Given the description of an element on the screen output the (x, y) to click on. 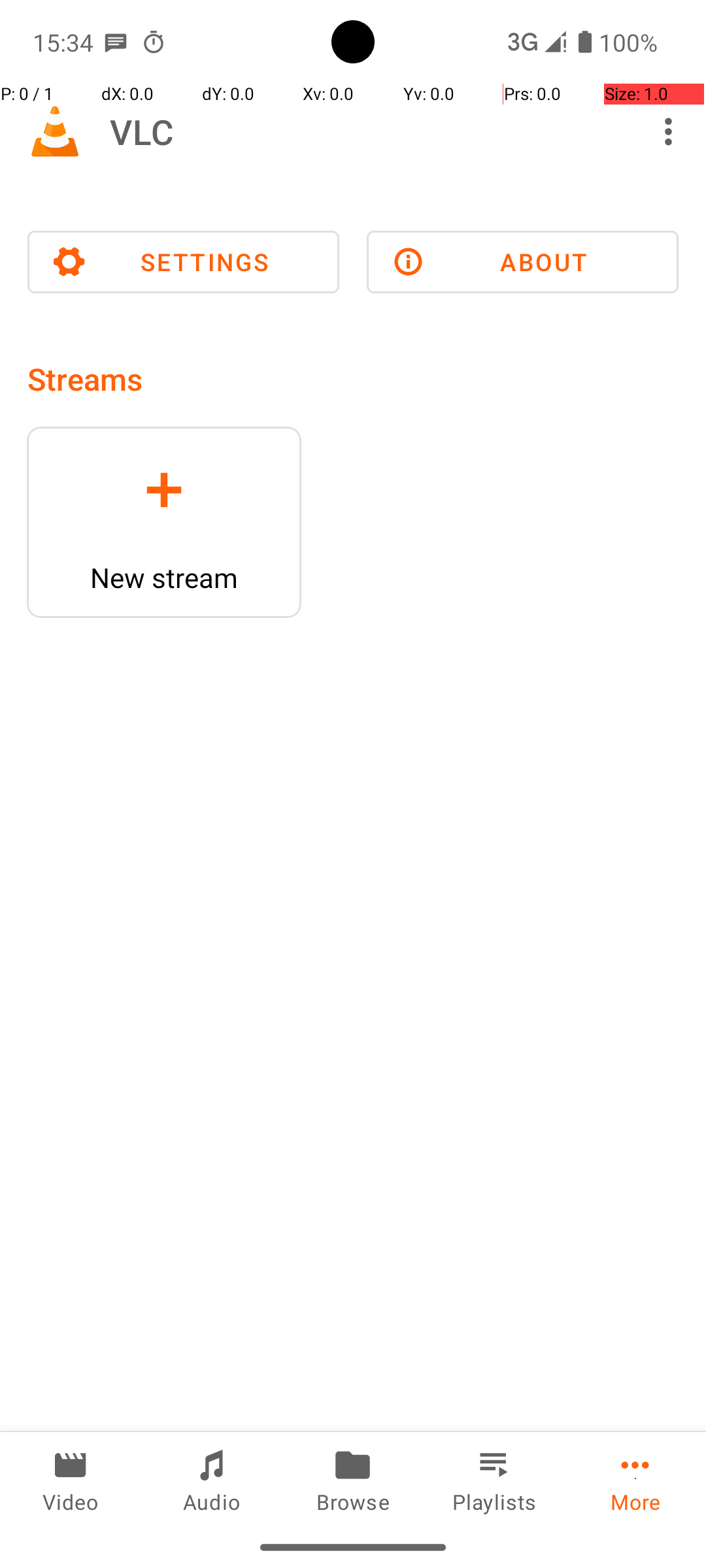
SETTINGS Element type: android.widget.Button (183, 261)
ABOUT Element type: android.widget.Button (522, 261)
Streams Element type: android.widget.TextView (84, 378)
New stream Element type: android.widget.TextView (163, 576)
